Given the description of an element on the screen output the (x, y) to click on. 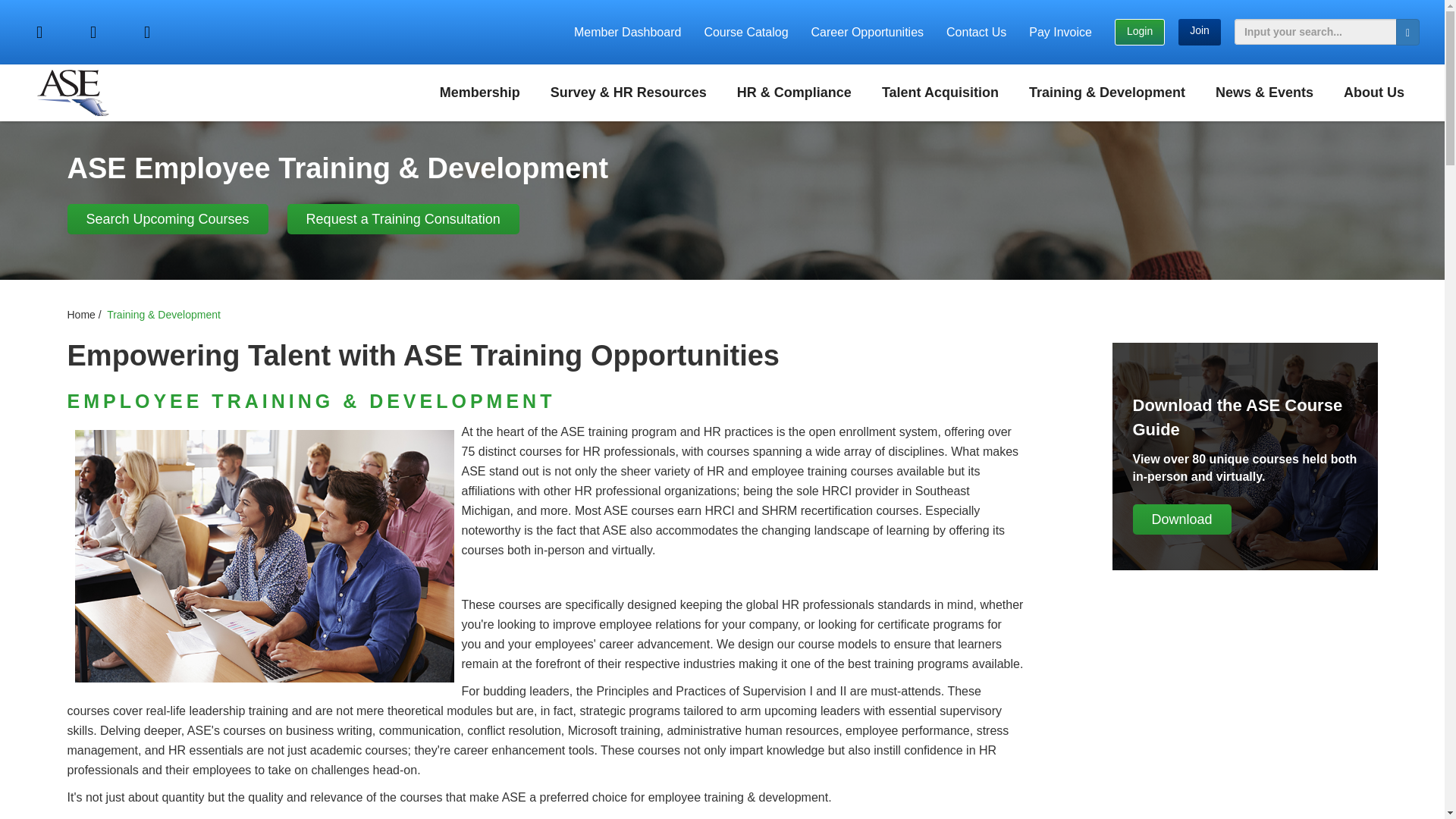
search input (1315, 31)
business presentation (1244, 456)
Login (1139, 31)
Career Opportunities (867, 31)
Member Dashboard (627, 31)
Join (1199, 31)
Contact Us (976, 31)
Pay Invoice (1060, 31)
Course Catalog (745, 31)
Membership (480, 93)
